Given the description of an element on the screen output the (x, y) to click on. 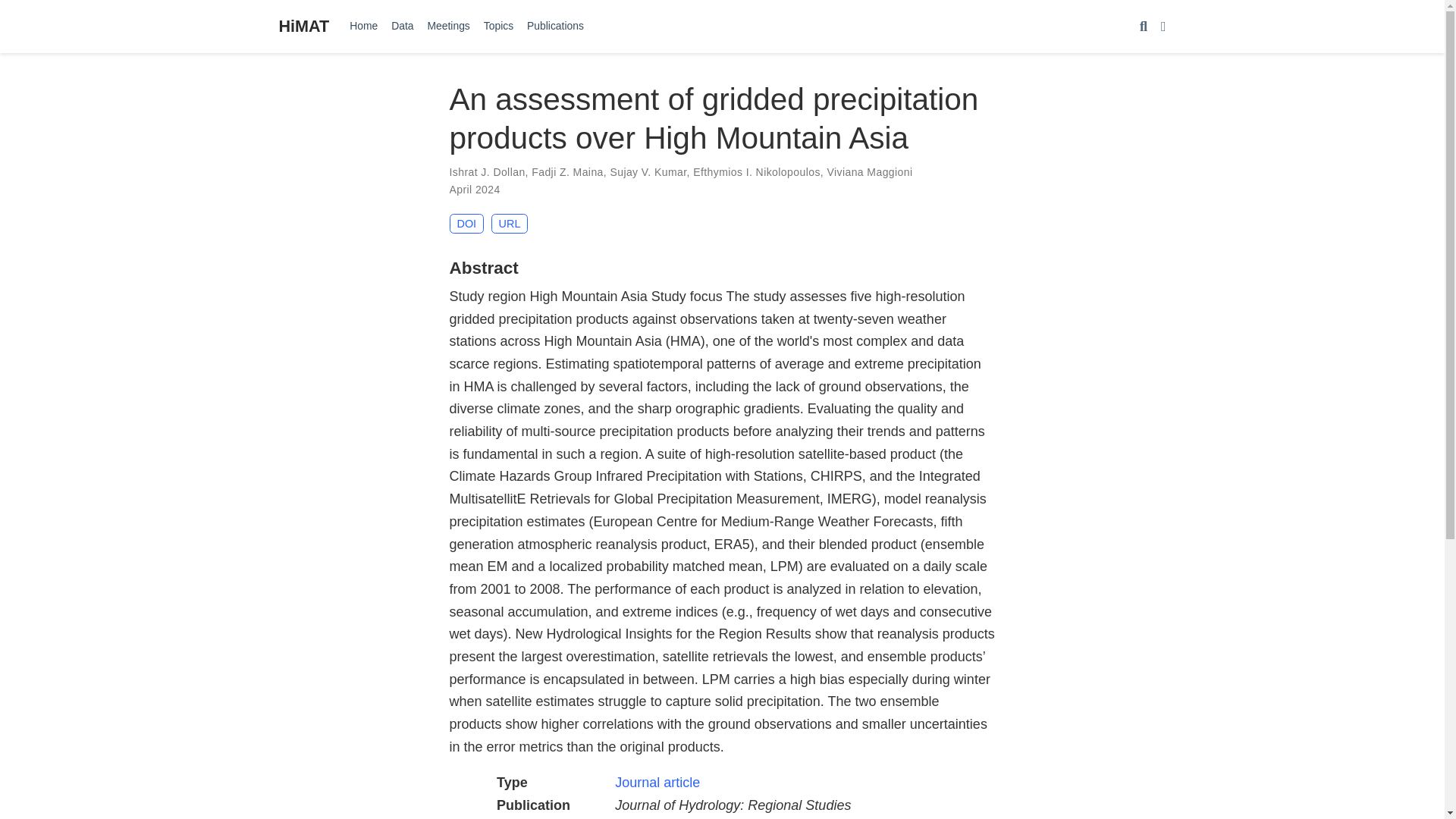
Meetings (448, 26)
Home (363, 26)
Publications (555, 26)
Fadji Z. Maina (567, 172)
Efthymios I. Nikolopoulos (757, 172)
DOI (465, 223)
URL (510, 223)
Ishrat J. Dollan (486, 172)
Topics (498, 26)
Journal article (657, 782)
Data (402, 26)
HiMAT (304, 26)
Viviana Maggioni (869, 172)
Sujay V. Kumar (647, 172)
